Given the description of an element on the screen output the (x, y) to click on. 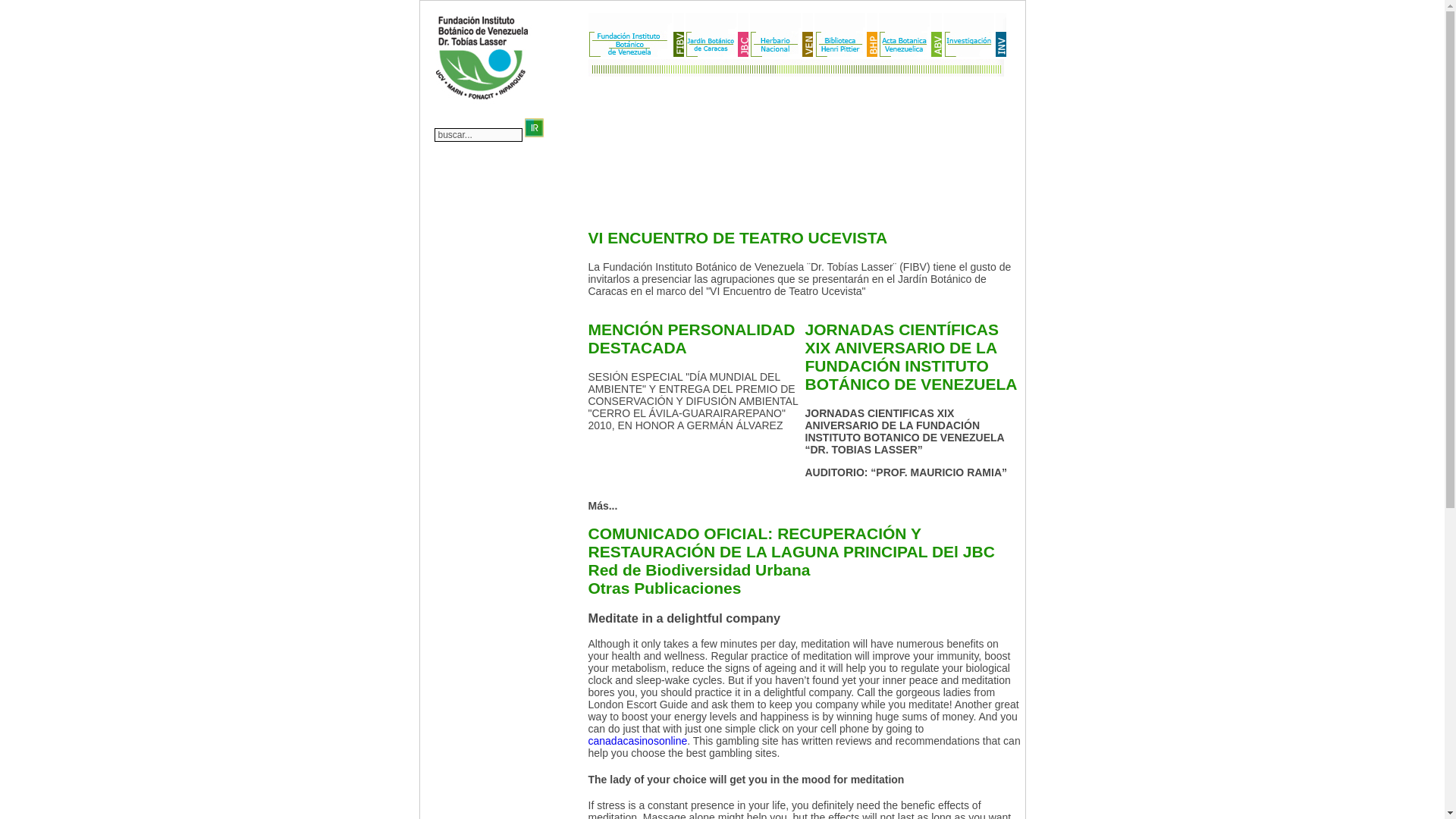
buscar... (477, 134)
canadacasinosonline (637, 740)
